Given the description of an element on the screen output the (x, y) to click on. 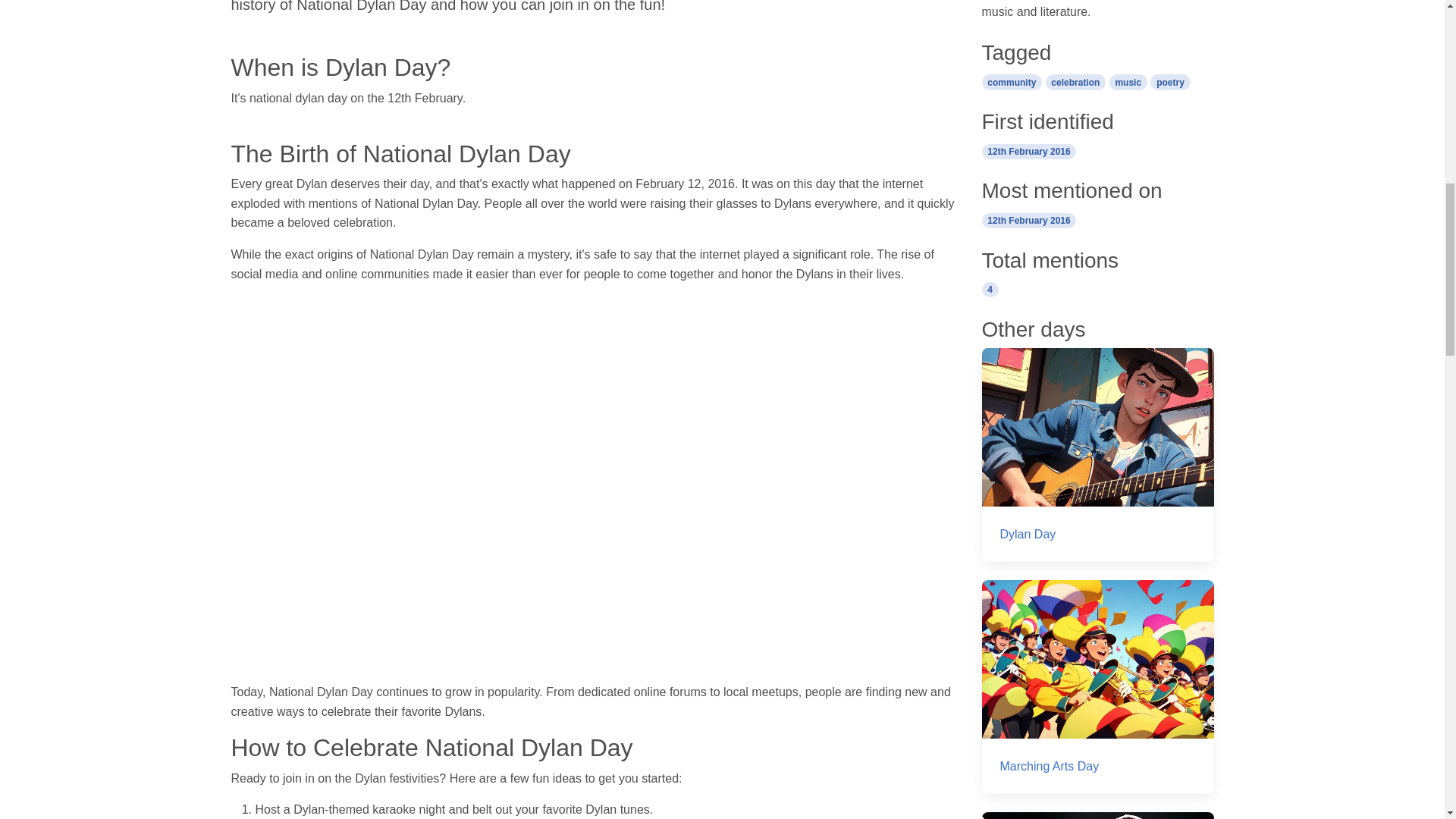
Marching Arts Day (1096, 686)
celebration (1075, 81)
Dylan Day (1096, 454)
music (1128, 81)
poetry (1169, 81)
community (1011, 81)
Riky Rick Day (1096, 815)
